Given the description of an element on the screen output the (x, y) to click on. 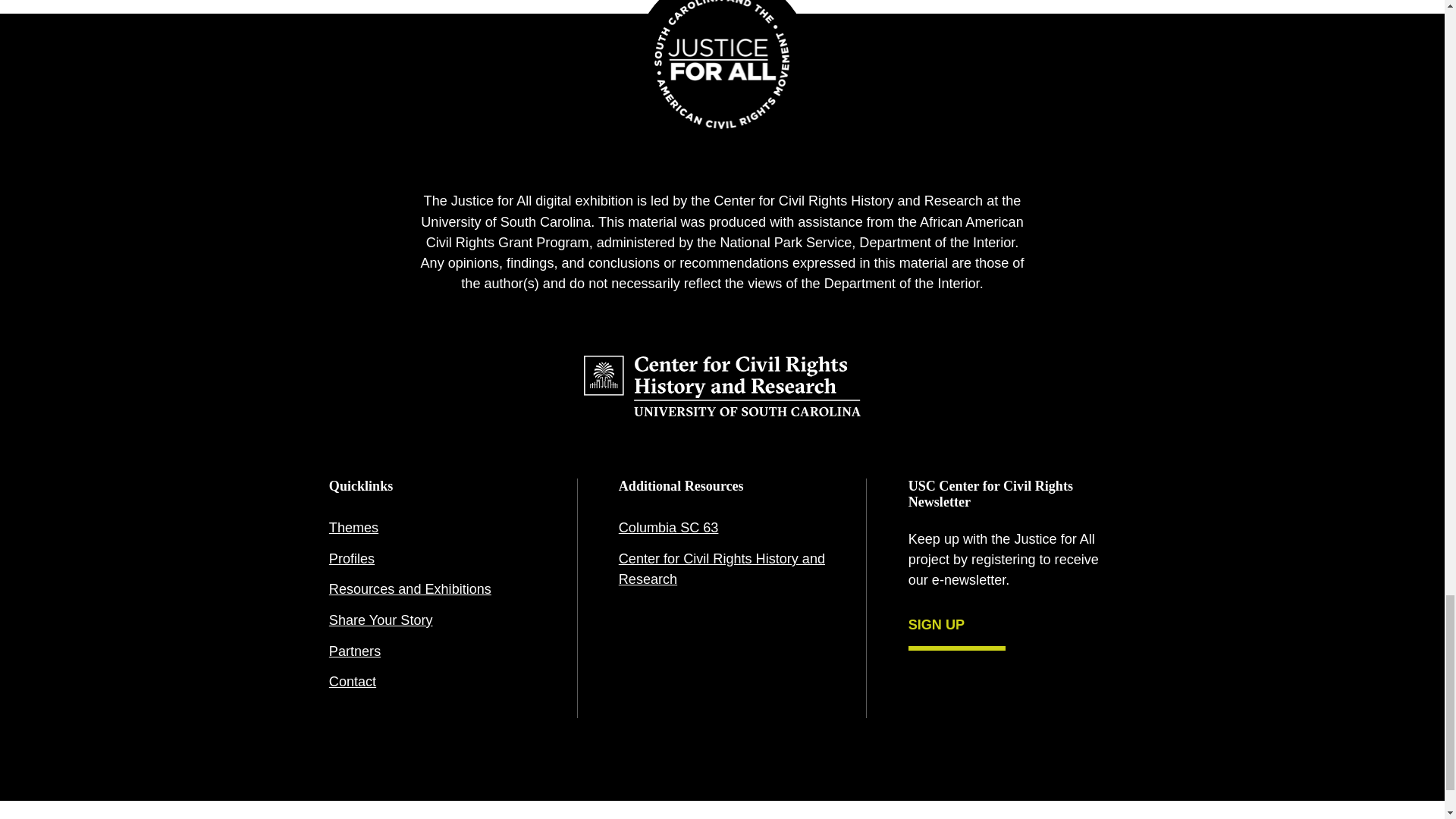
Partners (432, 651)
Columbia SC 63 (721, 527)
Profiles (432, 558)
Contact (432, 682)
Themes (432, 527)
SIGN UP (957, 627)
Share Your Story (432, 620)
Resources and Exhibitions (432, 590)
Center for Civil Rights History and Research (721, 569)
